Given the description of an element on the screen output the (x, y) to click on. 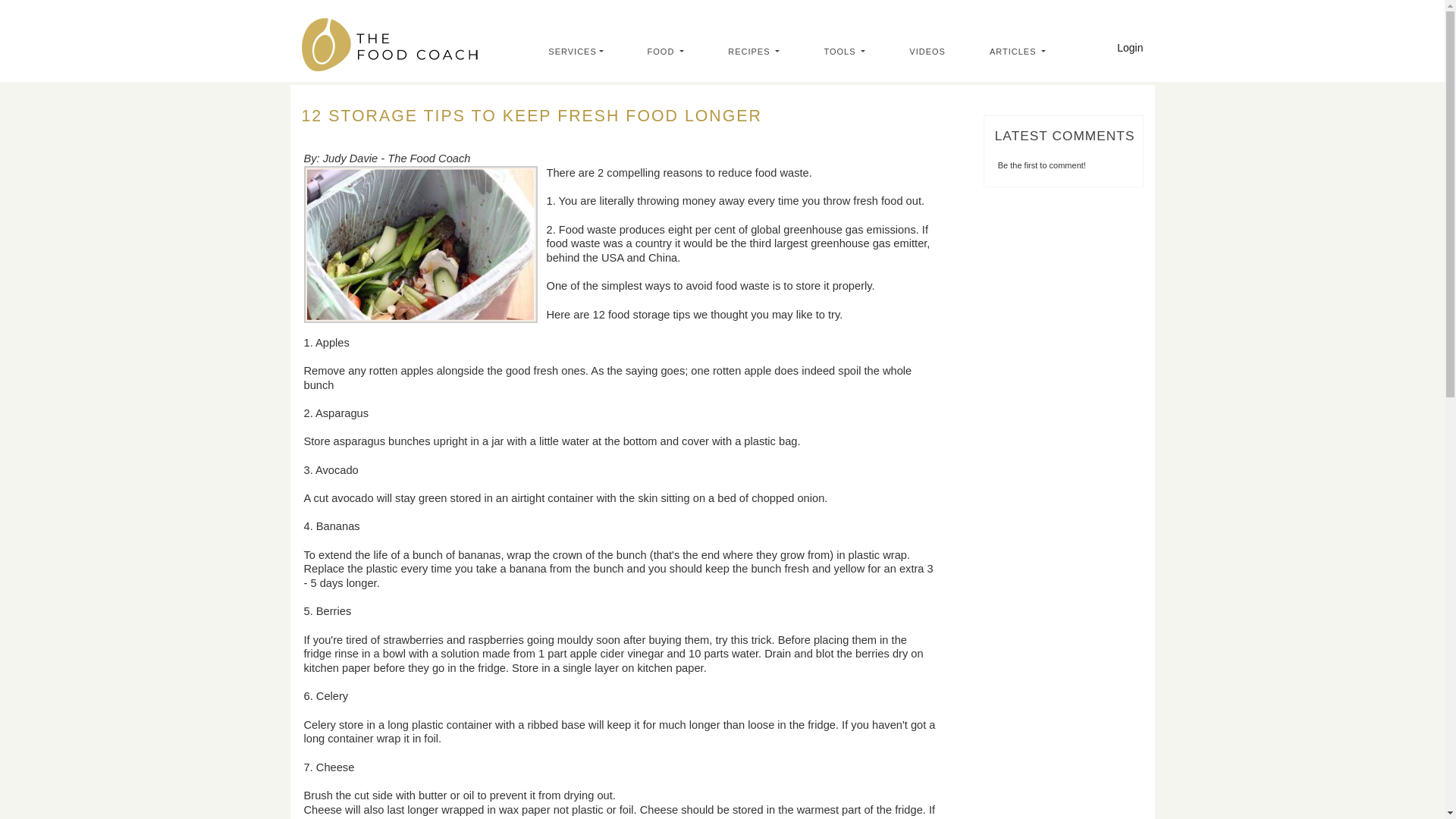
ARTICLES (1022, 51)
TOOLS (848, 51)
RECIPES (758, 51)
Login (1129, 47)
SERVICES (579, 51)
VIDEOS (931, 51)
FOOD (671, 51)
